Given the description of an element on the screen output the (x, y) to click on. 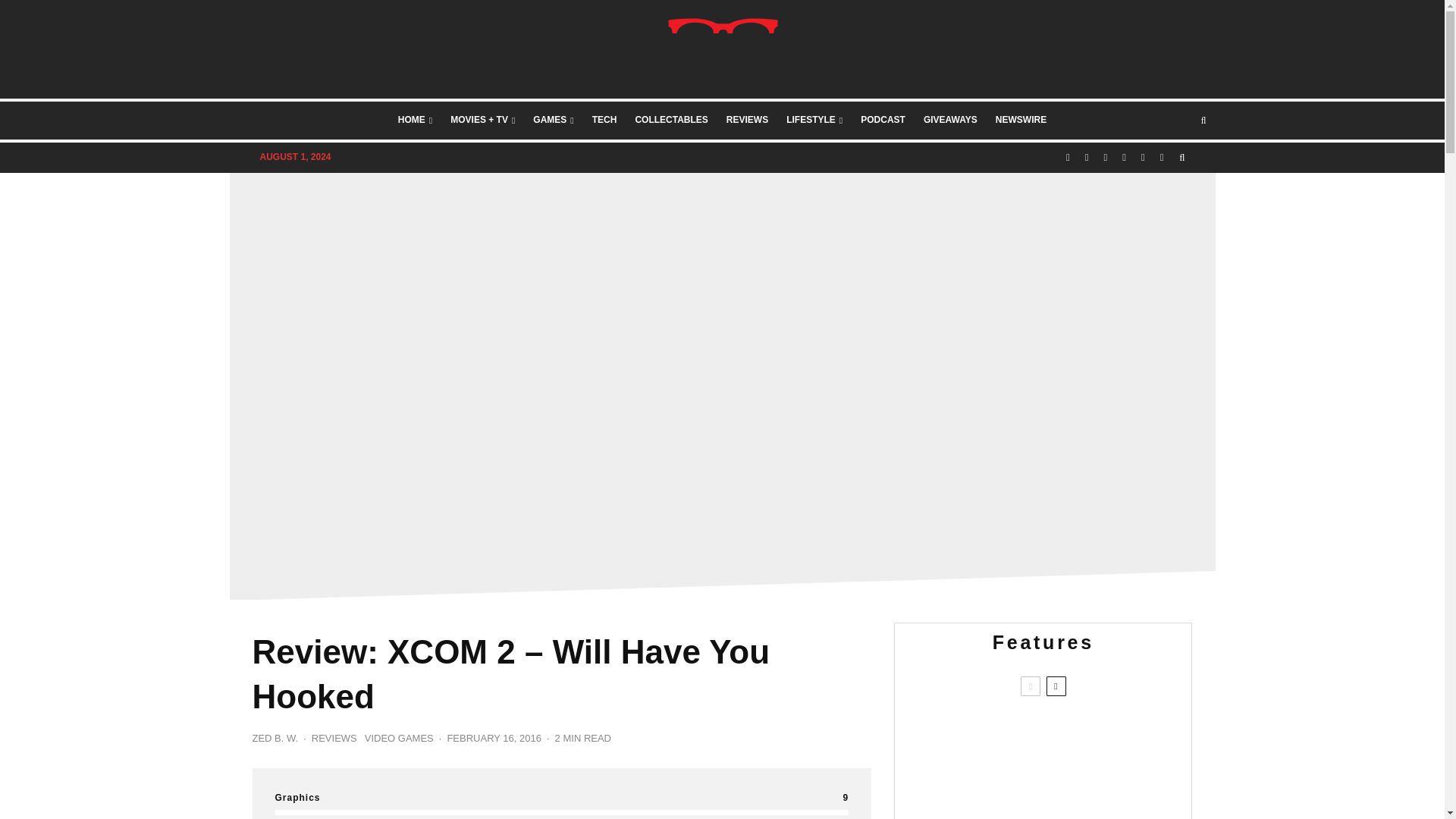
TECH (604, 120)
GAMES (553, 120)
HOME (414, 120)
